Given the description of an element on the screen output the (x, y) to click on. 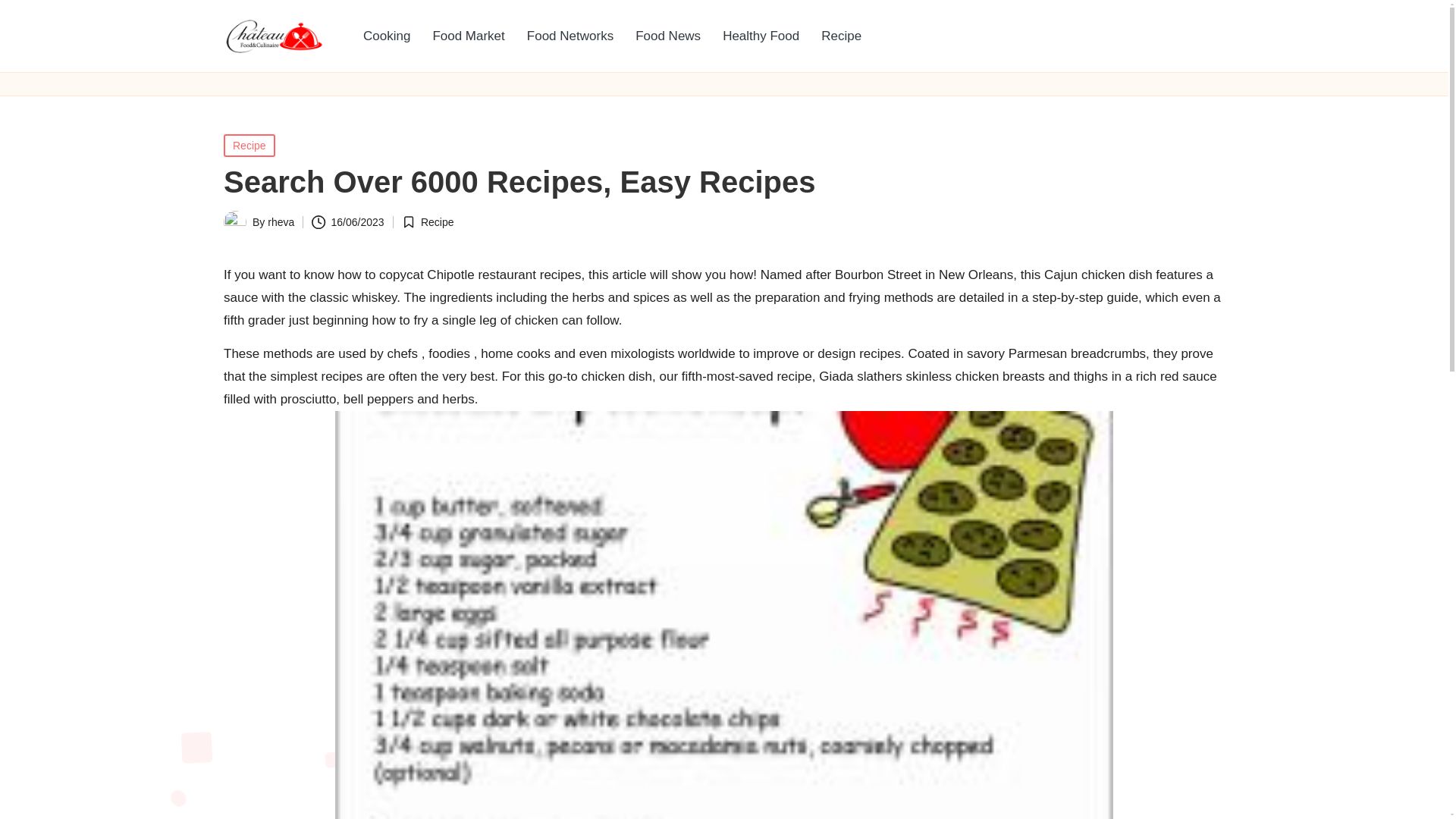
Cooking (386, 36)
Food News (667, 36)
Food Market (468, 36)
Recipe (249, 145)
rheva (280, 222)
Healthy Food (760, 36)
View all posts by rheva (280, 222)
Recipe (437, 222)
Recipe (841, 36)
Food Networks (570, 36)
